Given the description of an element on the screen output the (x, y) to click on. 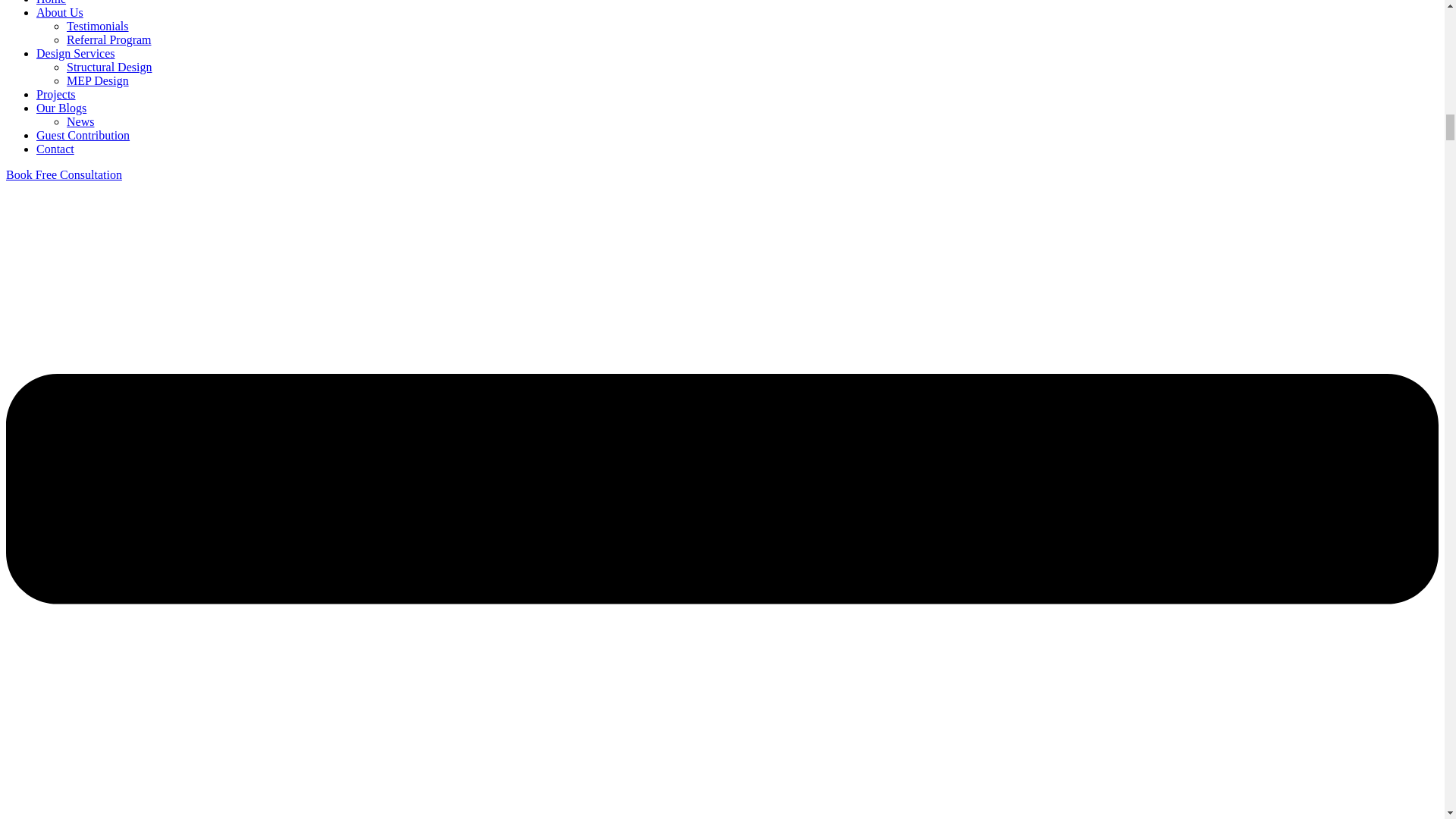
News (80, 121)
Home (50, 2)
MEP Design (97, 80)
Projects (55, 93)
About Us (59, 11)
Structural Design (108, 66)
Referral Program (108, 39)
Our Blogs (60, 107)
Guest Contribution (82, 134)
Book Free Consultation (63, 174)
Contact (55, 148)
Design Services (75, 52)
Testimonials (97, 25)
